Given the description of an element on the screen output the (x, y) to click on. 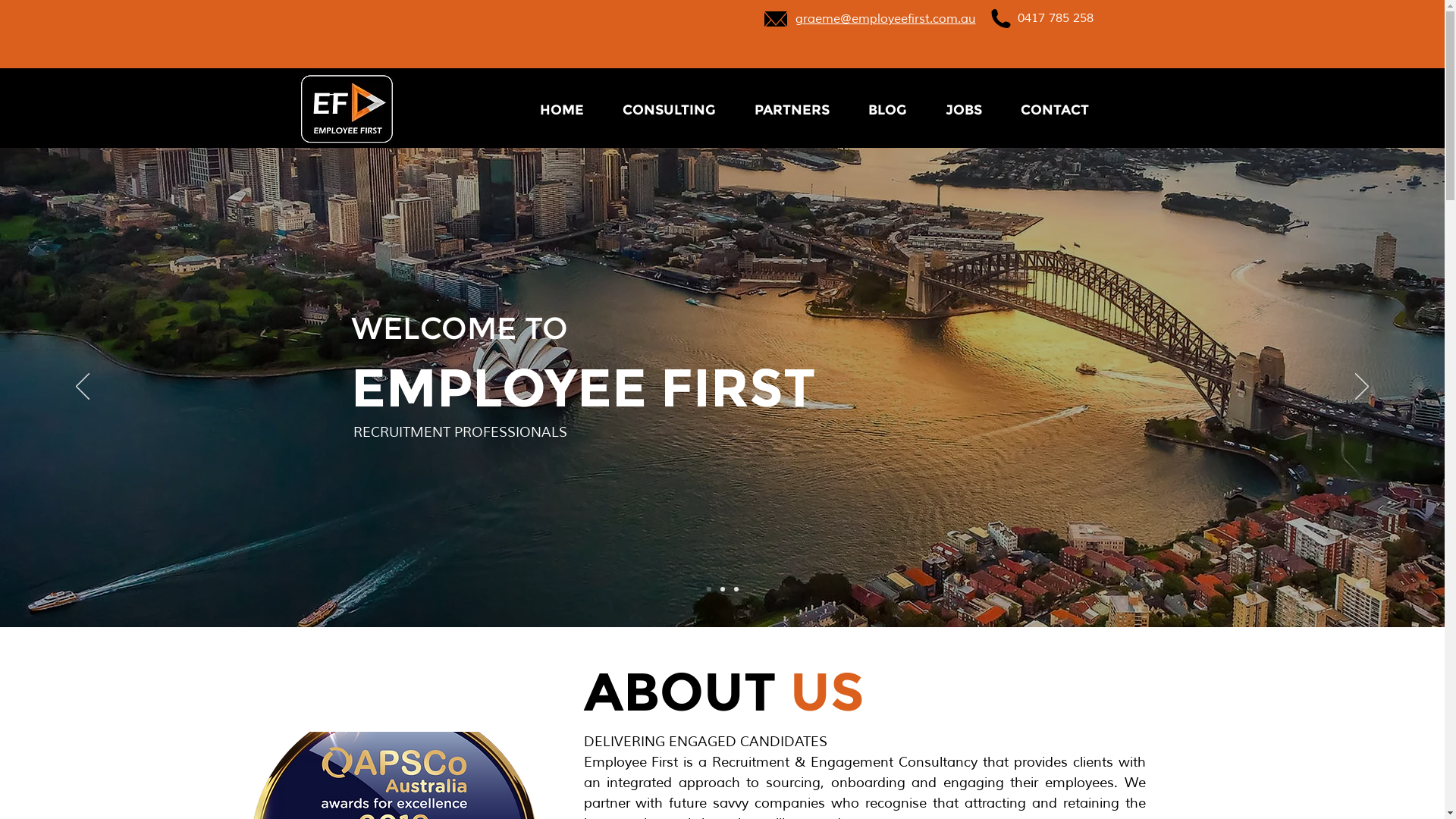
CONTACT Element type: text (1054, 109)
graeme@employeefirst.com.au Element type: text (884, 18)
JOBS Element type: text (963, 109)
CONSULTING Element type: text (669, 109)
HOME Element type: text (561, 109)
PARTNERS Element type: text (792, 109)
BLOG Element type: text (887, 109)
